Given the description of an element on the screen output the (x, y) to click on. 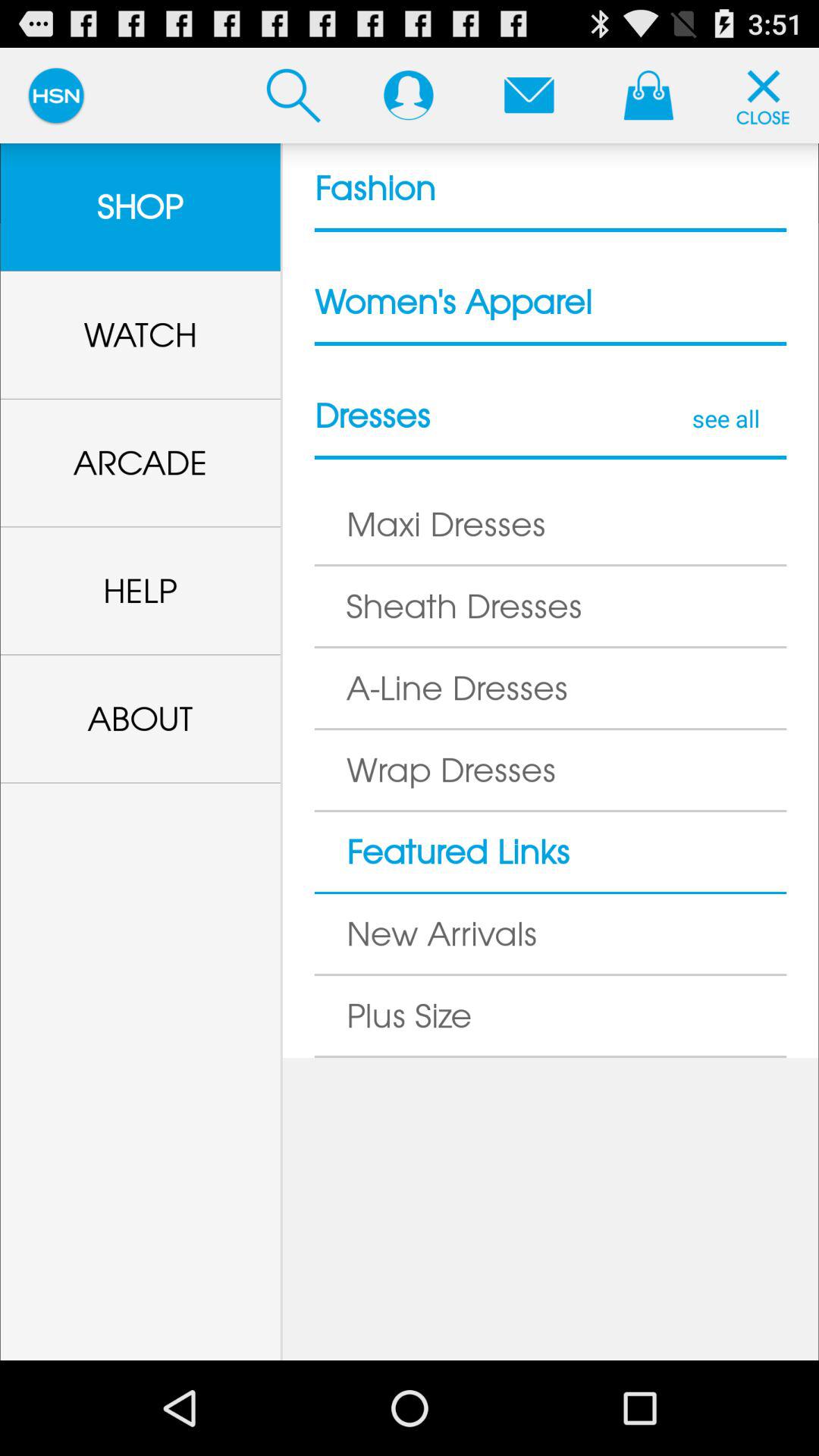
add the bag (648, 95)
